Given the description of an element on the screen output the (x, y) to click on. 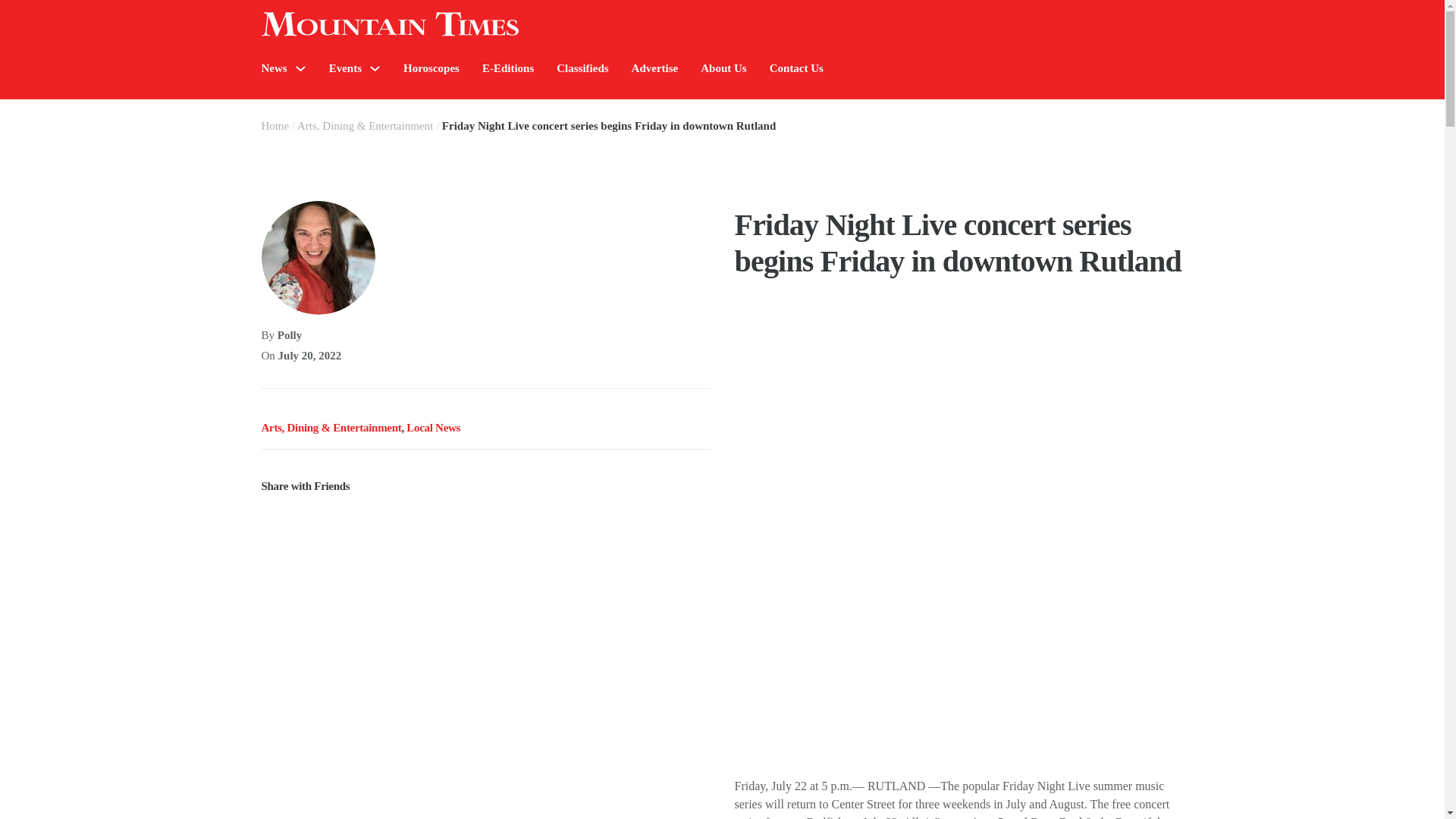
Local News (433, 427)
Contact Us (797, 67)
Search (1274, 114)
Polly (290, 335)
Events (345, 67)
Classifieds (582, 67)
Home (274, 125)
Share with Friends (485, 476)
About Us (722, 67)
News (273, 67)
